Given the description of an element on the screen output the (x, y) to click on. 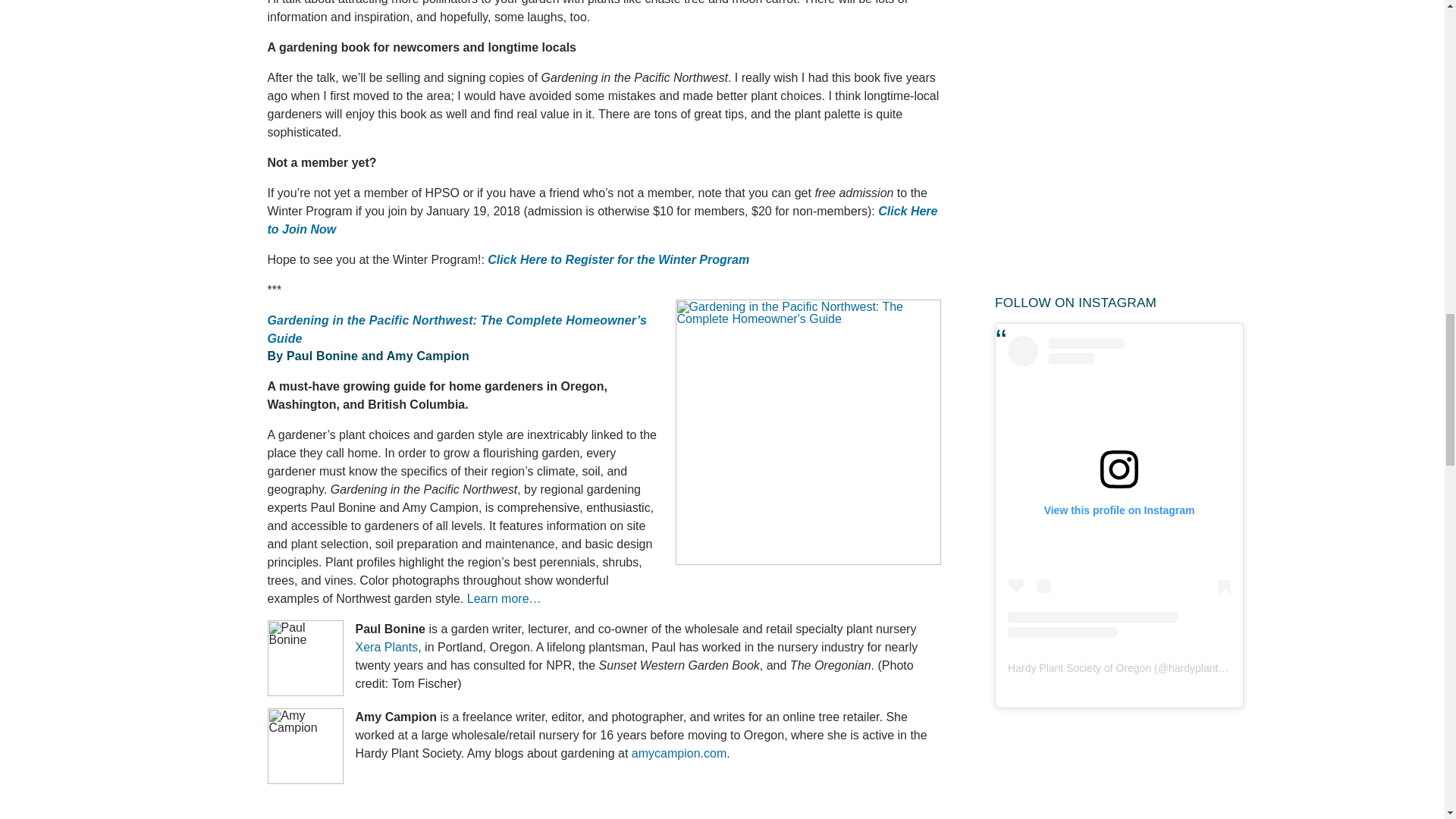
amycampion.com (678, 753)
Xera Plants (386, 646)
Click Here to Join Now (601, 219)
Click Here to Register for the Winter Program (618, 259)
